Given the description of an element on the screen output the (x, y) to click on. 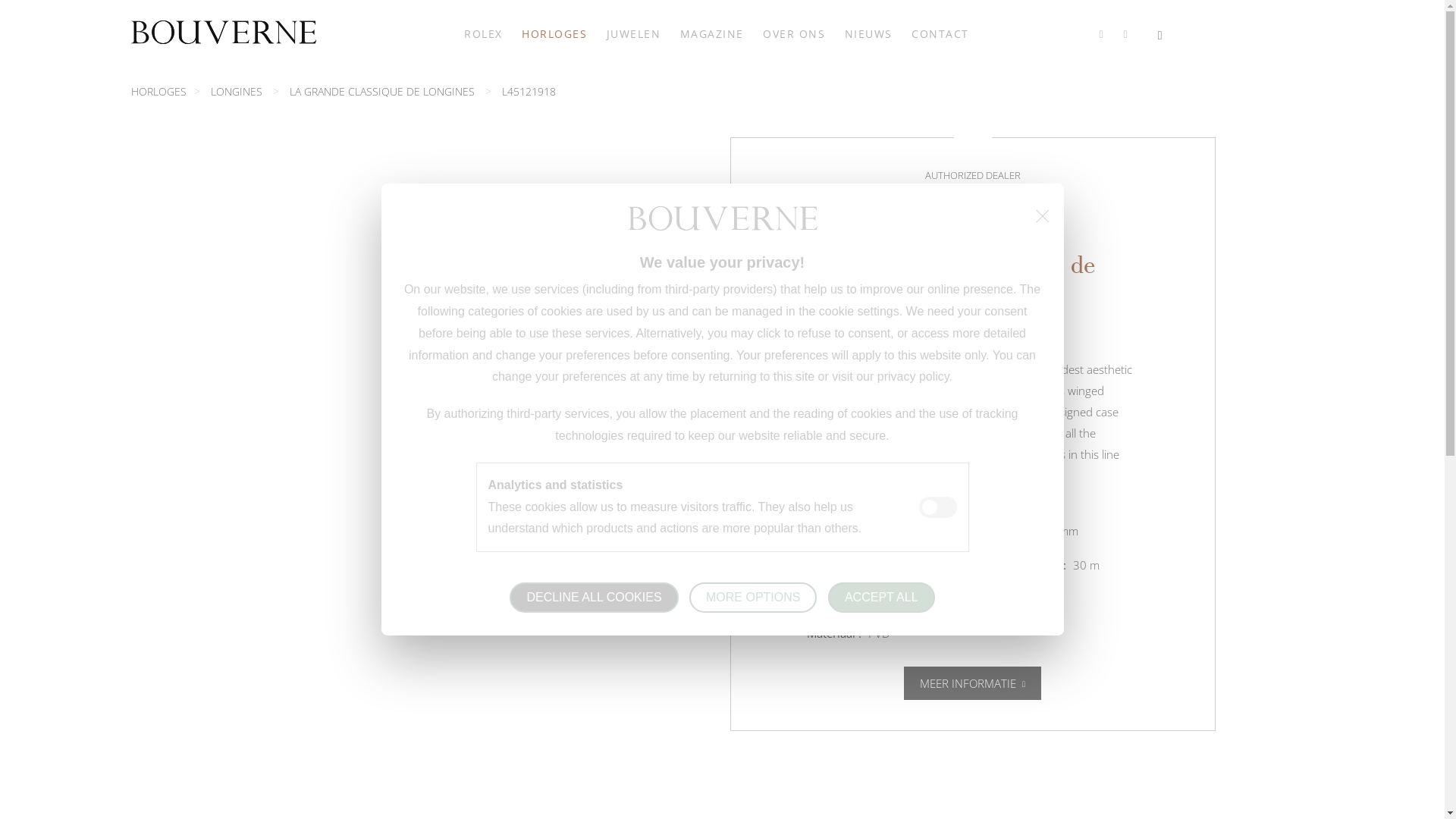
MEER INFORMATIE Element type: text (972, 682)
MAGAZINE Element type: text (711, 34)
MORE OPTIONS Element type: text (752, 597)
ACCEPT ALL Element type: text (881, 597)
LA GRANDE CLASSIQUE DE LONGINES Element type: text (381, 91)
HORLOGES Element type: text (553, 34)
JUWELEN Element type: text (633, 34)
CONTACT Element type: text (940, 34)
DECLINE ALL COOKIES Element type: text (593, 597)
OVER ONS Element type: text (793, 34)
HORLOGES Element type: text (157, 91)
L45121918 Element type: text (528, 91)
LONGINES Element type: text (236, 91)
NIEUWS Element type: text (868, 34)
ROLEX Element type: text (483, 34)
